Given the description of an element on the screen output the (x, y) to click on. 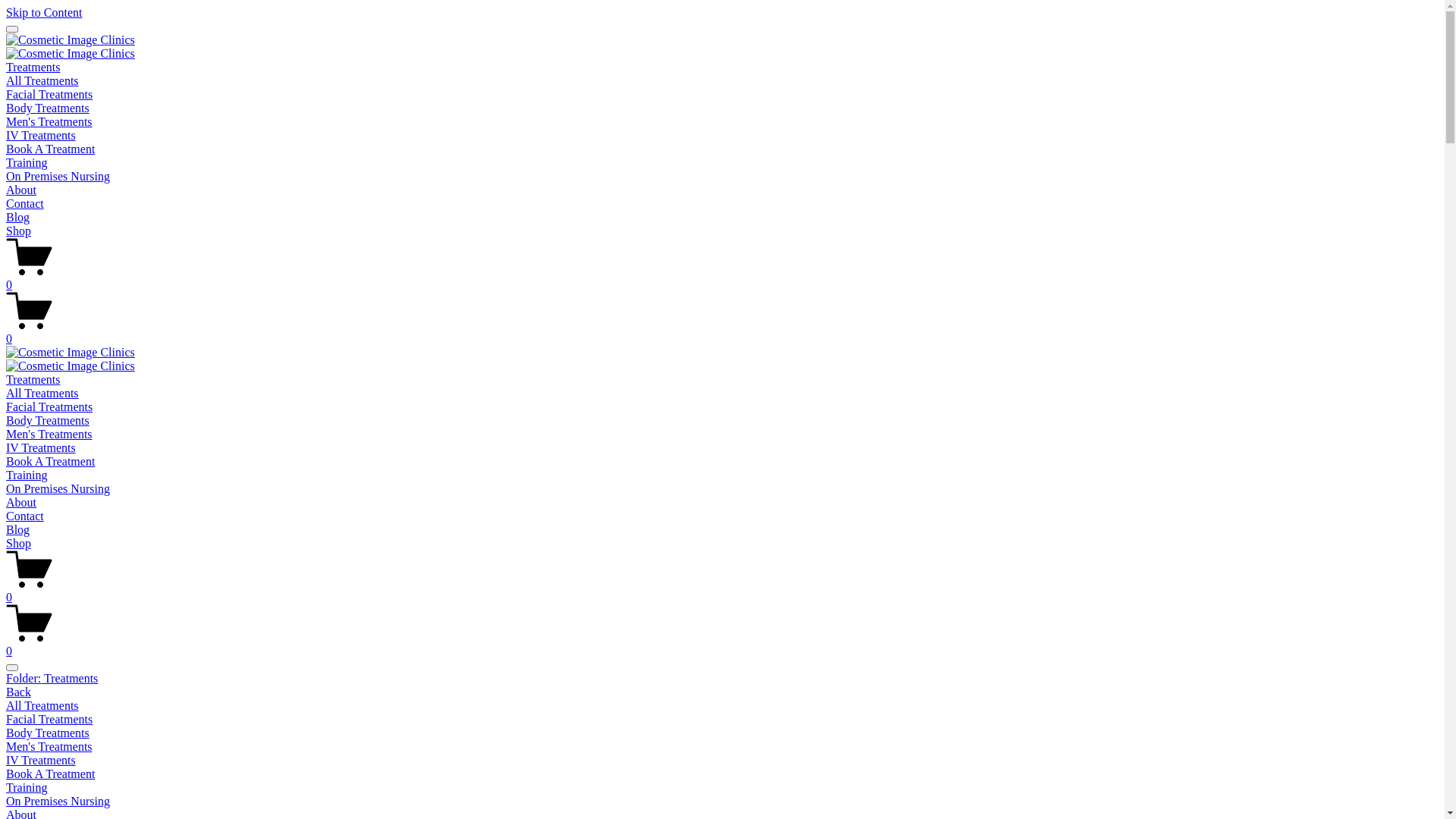
Contact Element type: text (24, 203)
Blog Element type: text (17, 529)
0 Element type: text (722, 644)
Facial Treatments Element type: text (722, 719)
Body Treatments Element type: text (722, 733)
Contact Element type: text (24, 515)
Men's Treatments Element type: text (49, 433)
Training Element type: text (26, 162)
IV Treatments Element type: text (722, 760)
IV Treatments Element type: text (40, 134)
Men's Treatments Element type: text (49, 121)
Blog Element type: text (17, 216)
IV Treatments Element type: text (40, 447)
All Treatments Element type: text (42, 392)
About Element type: text (21, 501)
0 Element type: text (722, 277)
Facial Treatments Element type: text (49, 93)
0 Element type: text (722, 590)
Body Treatments Element type: text (47, 420)
0 Element type: text (722, 331)
Men's Treatments Element type: text (722, 746)
Treatments Element type: text (32, 66)
On Premises Nursing Element type: text (722, 801)
Book A Treatment Element type: text (50, 148)
Training Element type: text (26, 474)
Book A Treatment Element type: text (722, 774)
All Treatments Element type: text (42, 80)
Shop Element type: text (18, 230)
On Premises Nursing Element type: text (57, 488)
Treatments Element type: text (32, 379)
Training Element type: text (722, 787)
Shop Element type: text (18, 542)
On Premises Nursing Element type: text (57, 175)
Facial Treatments Element type: text (49, 406)
Skip to Content Element type: text (43, 12)
Body Treatments Element type: text (47, 107)
Book A Treatment Element type: text (50, 461)
Folder: Treatments Element type: text (722, 678)
About Element type: text (21, 189)
All Treatments Element type: text (722, 705)
Back Element type: text (18, 691)
